Given the description of an element on the screen output the (x, y) to click on. 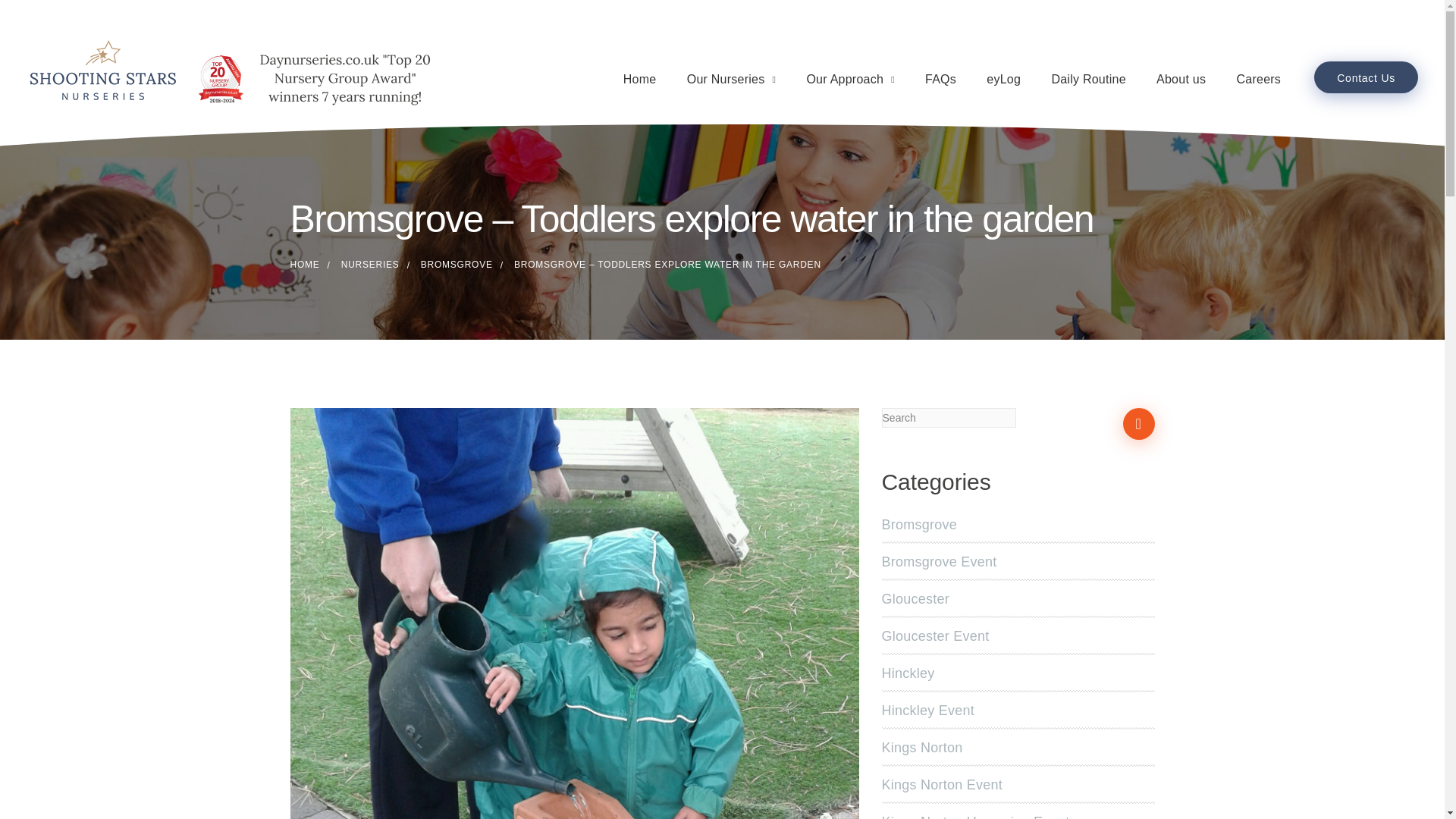
eyLog (1003, 79)
Careers (1258, 79)
NURSERIES (369, 265)
Contact Us (1366, 77)
Shooting Stars - Ultimate care and education for your child (102, 70)
Bromsgrove (920, 524)
Bromsgrove Event (939, 561)
Kings Norton (922, 747)
Home (639, 79)
Shooting Stars (303, 265)
